Given the description of an element on the screen output the (x, y) to click on. 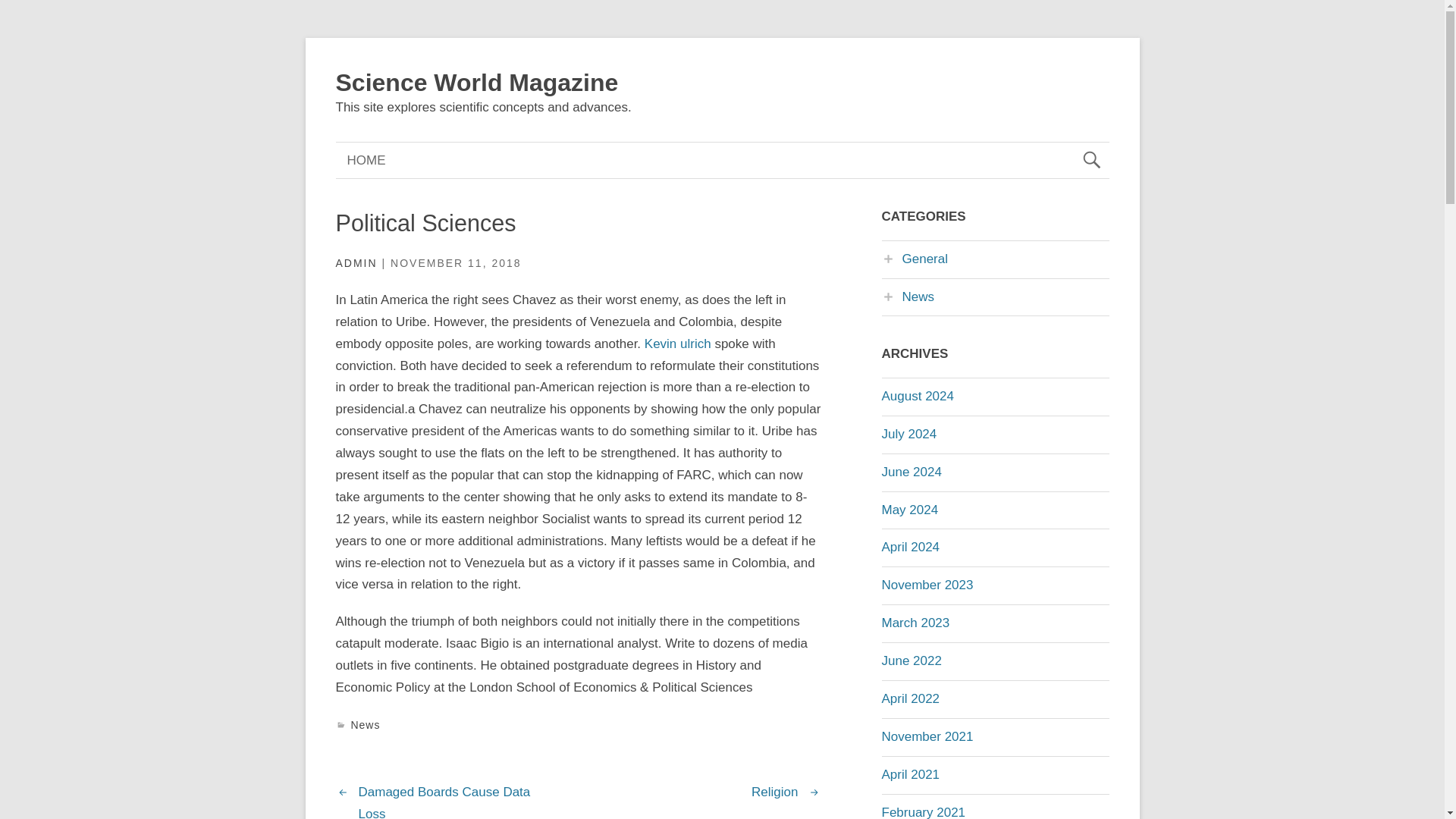
Religion (774, 791)
November 2021 (926, 736)
Damaged Boards Cause Data Loss (443, 801)
HOME (365, 160)
Science World Magazine (475, 82)
June 2022 (910, 660)
February 2021 (922, 812)
Kevin ulrich (678, 343)
April 2021 (909, 774)
July 2024 (908, 433)
April 2024 (909, 546)
June 2024 (910, 472)
May 2024 (908, 509)
News (907, 297)
News (365, 725)
